Given the description of an element on the screen output the (x, y) to click on. 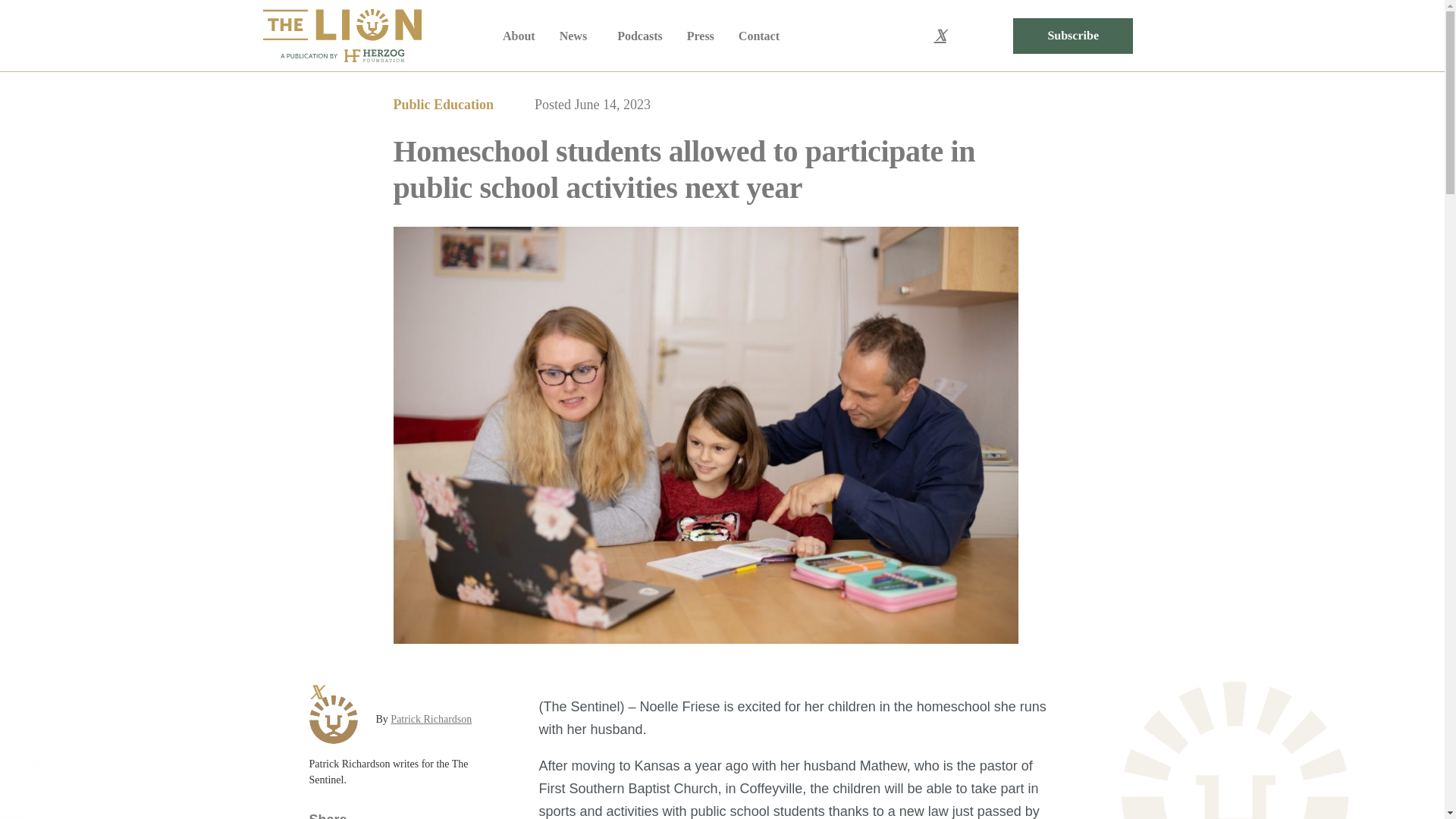
Press (700, 35)
Twitter (940, 36)
Public Education (443, 104)
Subscribe (1072, 36)
News (575, 35)
Contact (758, 35)
Podcasts (639, 35)
About (518, 35)
